Given the description of an element on the screen output the (x, y) to click on. 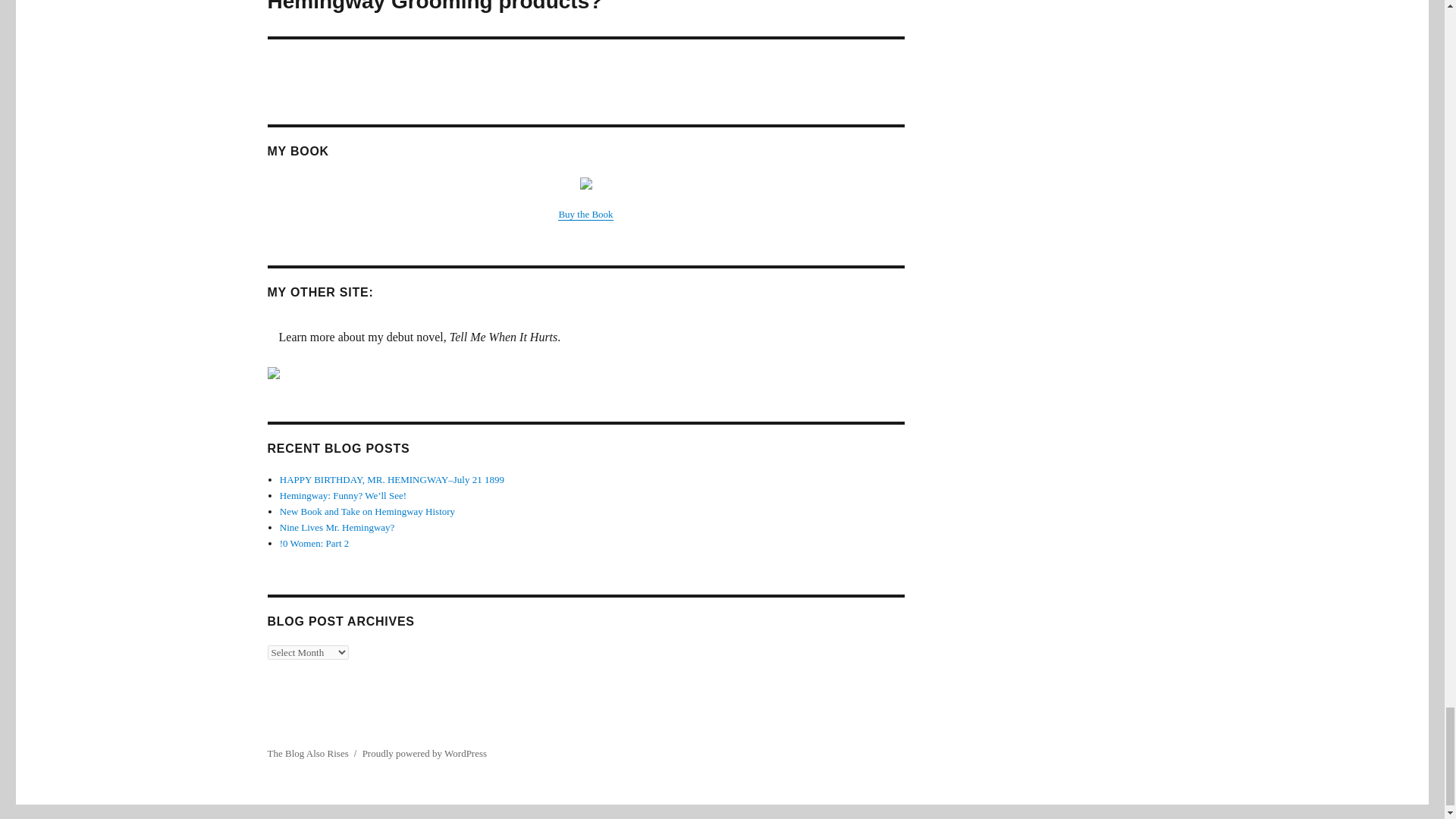
!0 Women: Part 2 (314, 542)
New Book and Take on Hemingway History (366, 511)
Buy the Book (584, 214)
Nine Lives Mr. Hemingway? (336, 527)
